Given the description of an element on the screen output the (x, y) to click on. 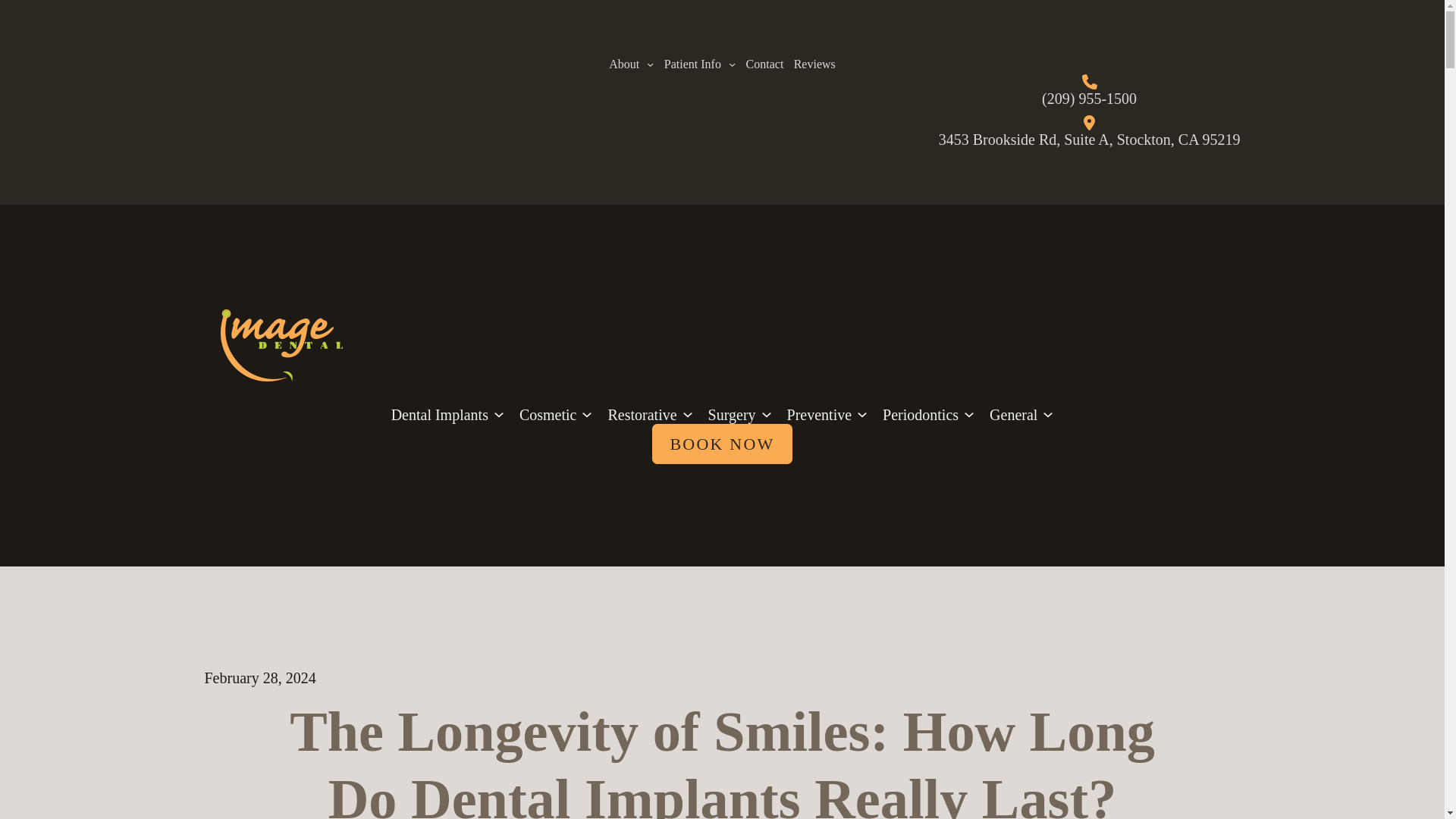
Patient Info (691, 64)
3453 Brookside Rd, Suite A, Stockton, CA 95219 (1089, 139)
Cosmetic Dentistry (547, 414)
Dental Implants (439, 414)
Cosmetic (547, 414)
About Us (623, 64)
Contact (764, 64)
Contact Us (764, 64)
About (623, 64)
Reviews (814, 64)
